Given the description of an element on the screen output the (x, y) to click on. 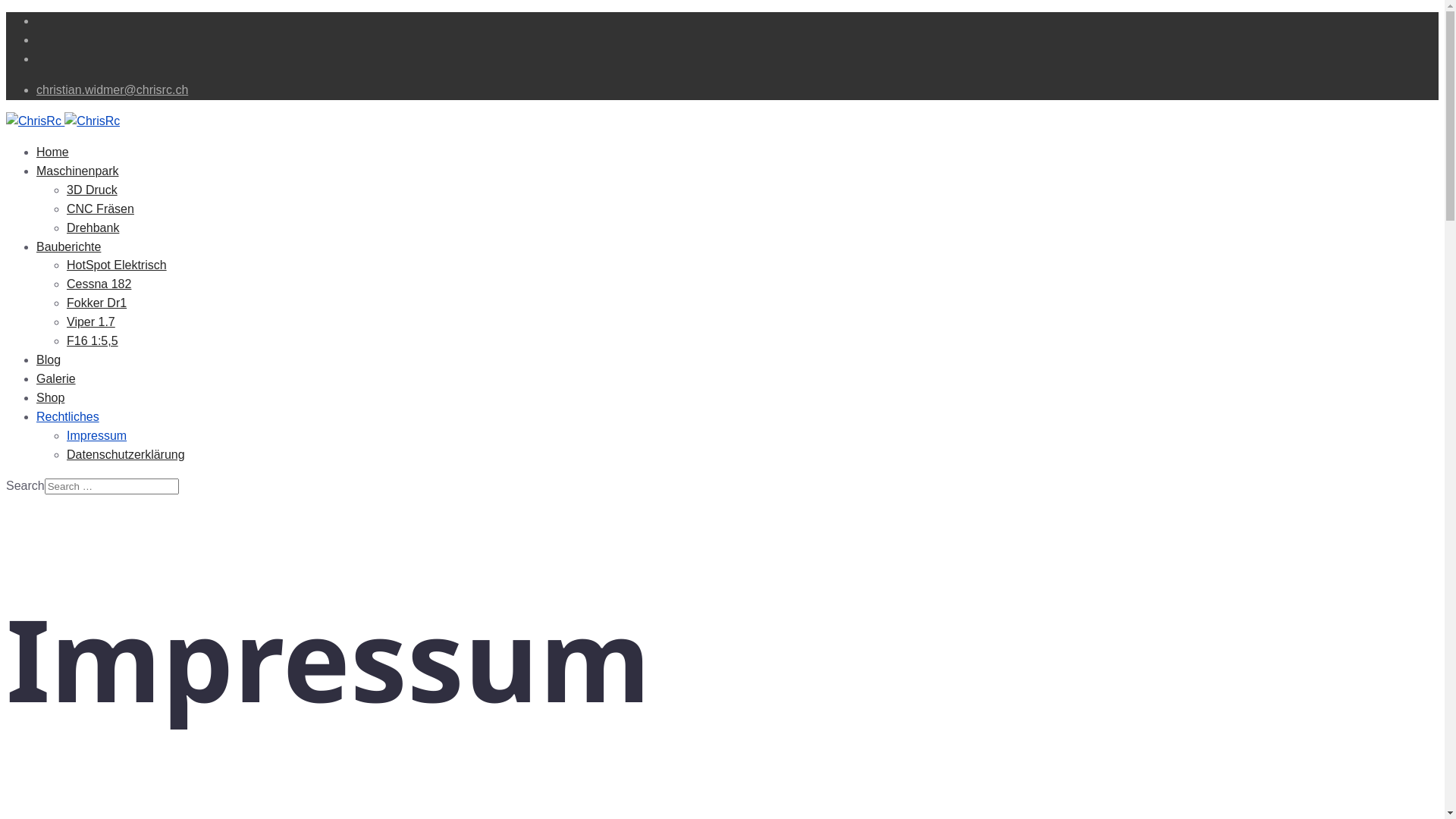
Home Element type: text (52, 151)
Viper 1.7 Element type: text (90, 321)
Impressum Element type: text (96, 435)
F16 1:5,5 Element type: text (92, 340)
3D Druck Element type: text (91, 189)
Shop Element type: text (50, 397)
Bauberichte Element type: text (68, 246)
Blog Element type: text (48, 359)
Fokker Dr1 Element type: text (96, 302)
Drehbank Element type: text (92, 227)
HotSpot Elektrisch Element type: text (116, 264)
Rechtliches Element type: text (67, 416)
Maschinenpark Element type: text (77, 170)
Cessna 182 Element type: text (98, 283)
Galerie Element type: text (55, 378)
christian.widmer@chrisrc.ch Element type: text (112, 89)
